Given the description of an element on the screen output the (x, y) to click on. 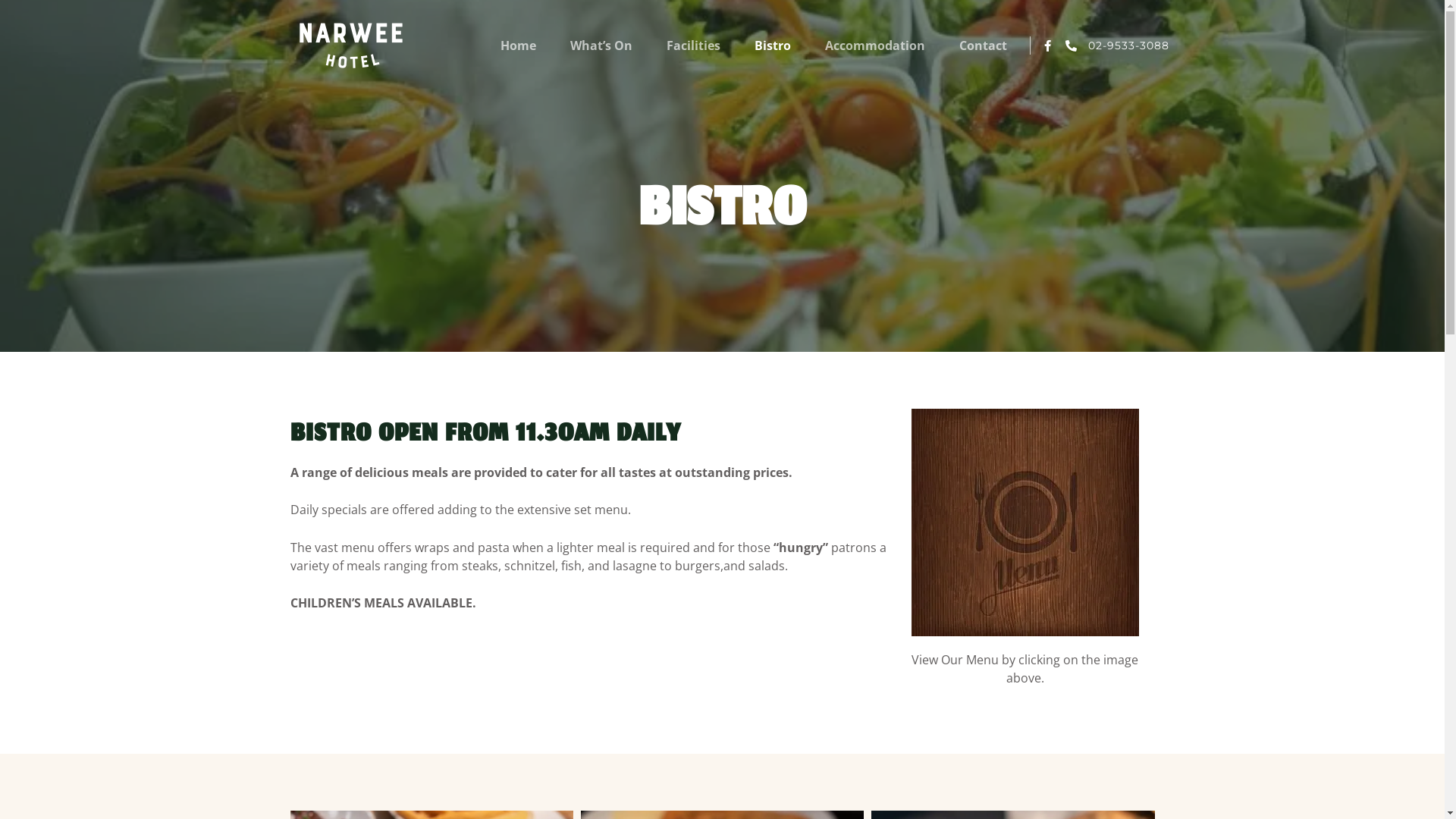
Bistro Element type: text (772, 45)
Contact Element type: text (983, 45)
Accommodation Element type: text (875, 45)
Home Element type: text (518, 45)
Facilities Element type: text (693, 45)
